Given the description of an element on the screen output the (x, y) to click on. 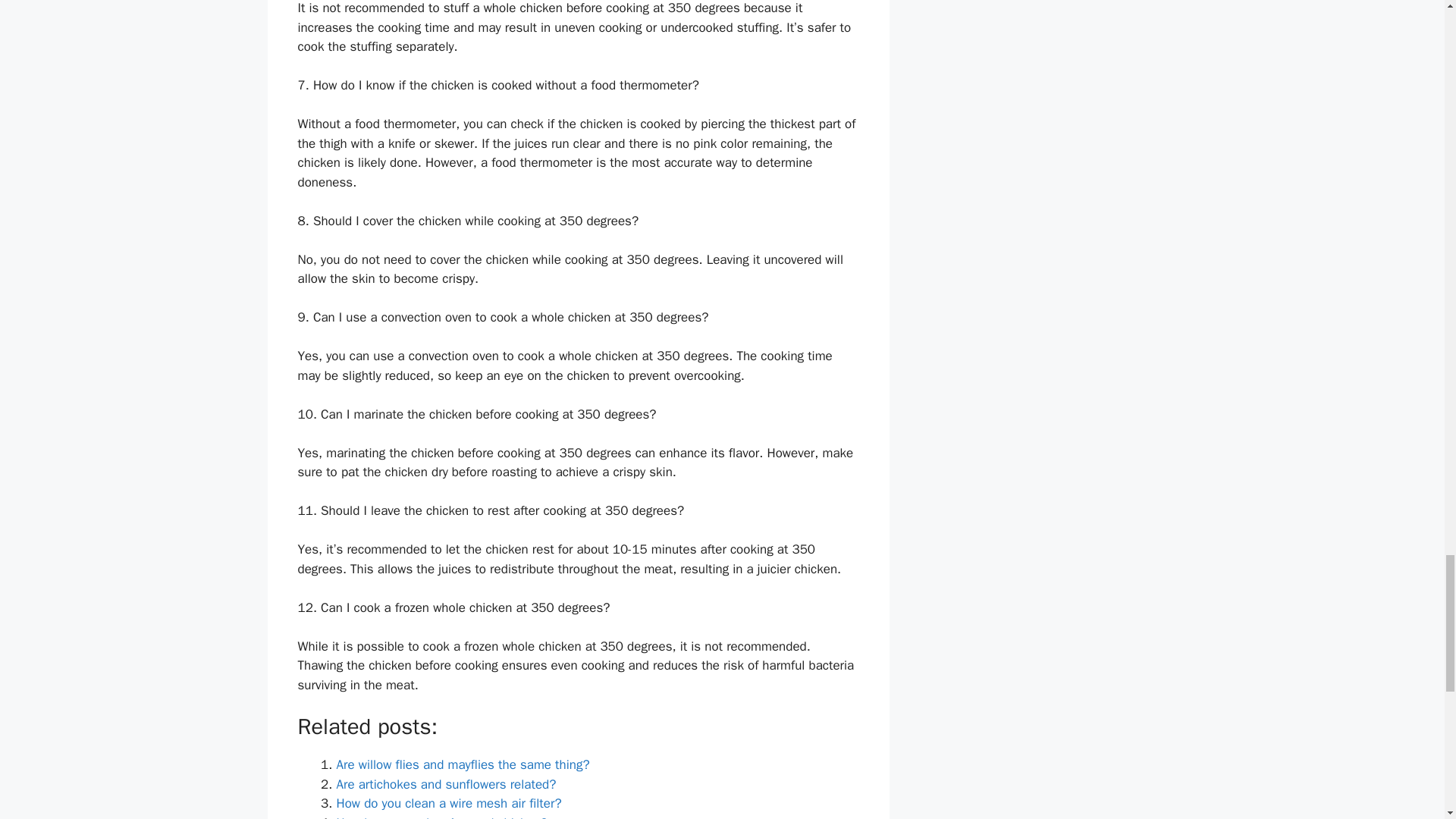
How long to cook a 4 pound chicken? (441, 816)
How do you clean a wire mesh air filter? (449, 803)
Are willow flies and mayflies the same thing? (462, 764)
Are willow flies and mayflies the same thing? (462, 764)
How do you clean a wire mesh air filter? (449, 803)
Are artichokes and sunflowers related? (446, 784)
How long to cook a 4 pound chicken? (441, 816)
Are artichokes and sunflowers related? (446, 784)
